Given the description of an element on the screen output the (x, y) to click on. 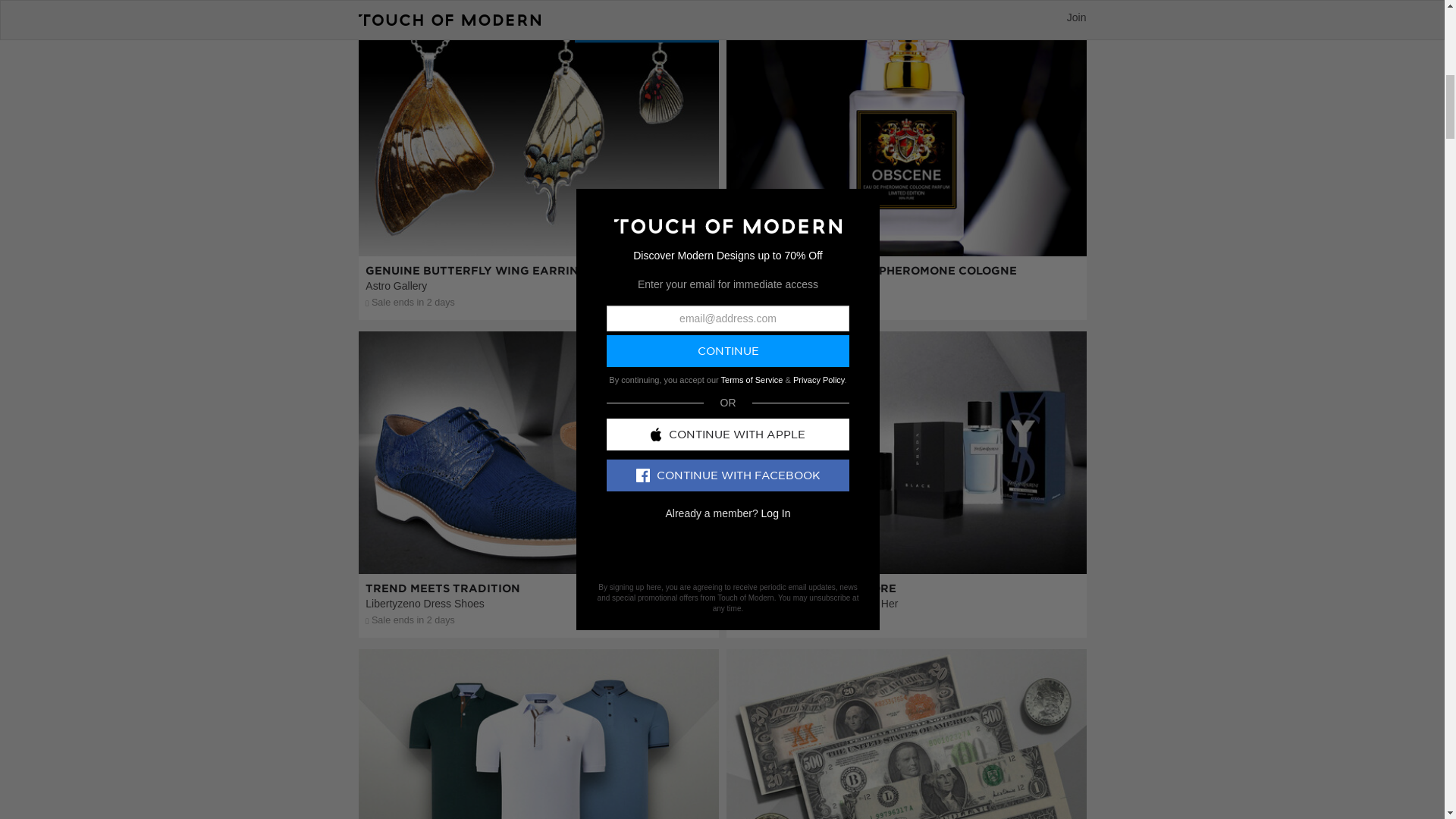
Trend Meets Tradition (537, 541)
The Season's Best Basics (537, 791)
Genuine Butterfly Wing Earrings (537, 223)
